Given the description of an element on the screen output the (x, y) to click on. 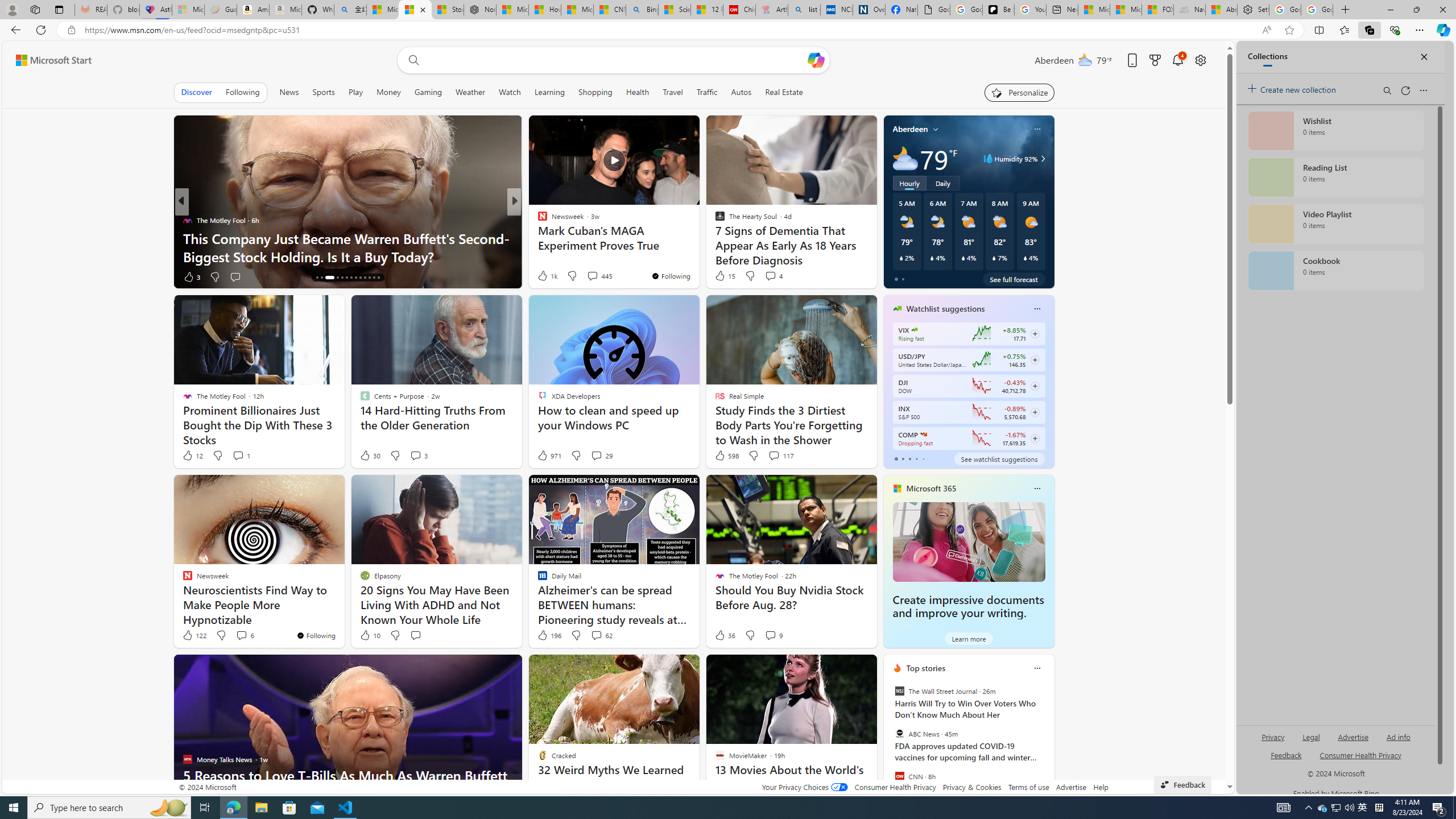
INSIDER (537, 219)
121 Like (545, 276)
Mostly cloudy (904, 158)
Class: follow-button  m (1034, 438)
AutomationID: tab-20 (350, 277)
tab-3 (916, 458)
40 Like (543, 276)
FOX News (537, 219)
View comments 38 Comment (592, 276)
